Given the description of an element on the screen output the (x, y) to click on. 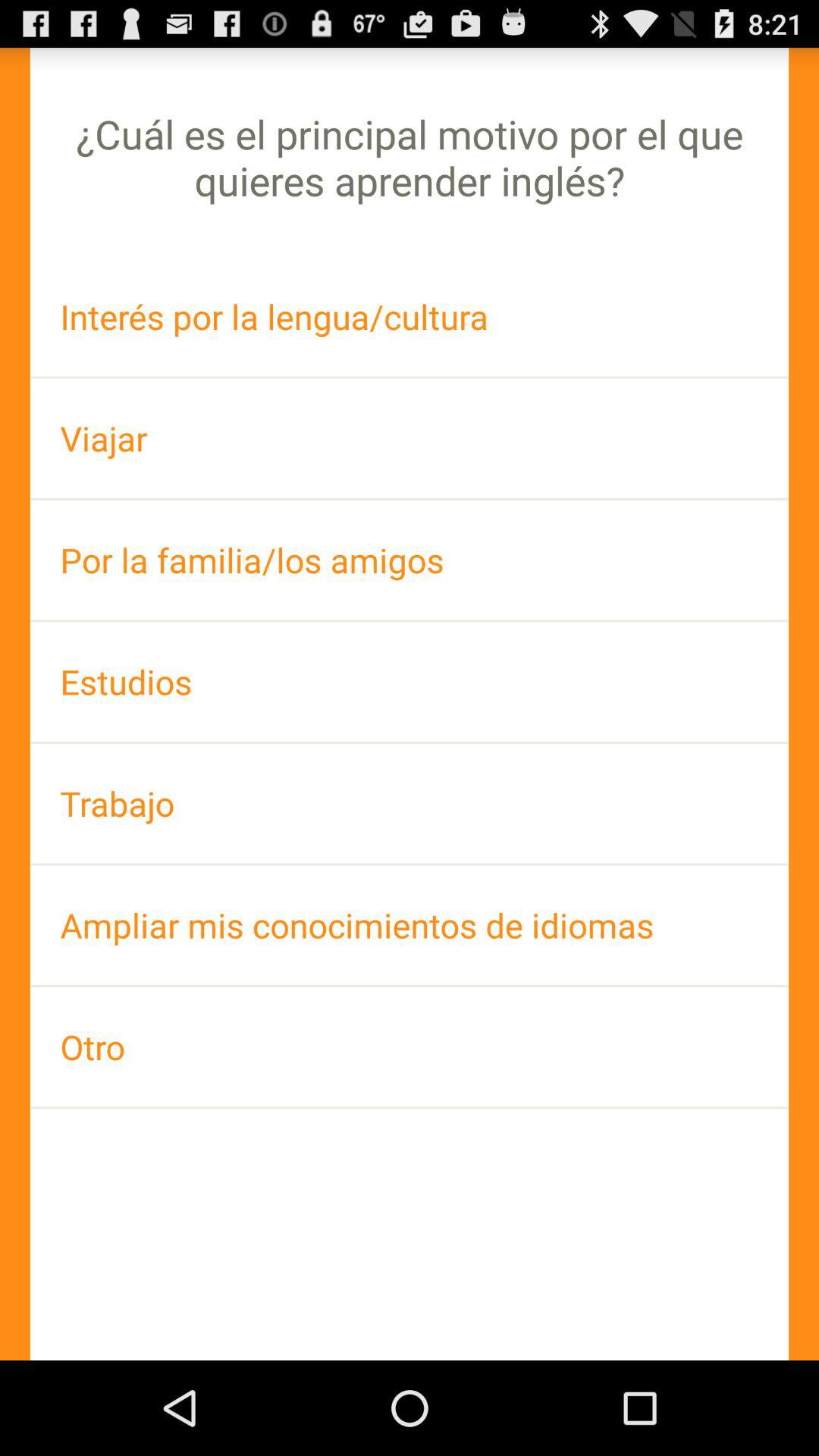
choose the ampliar mis conocimientos (409, 925)
